Given the description of an element on the screen output the (x, y) to click on. 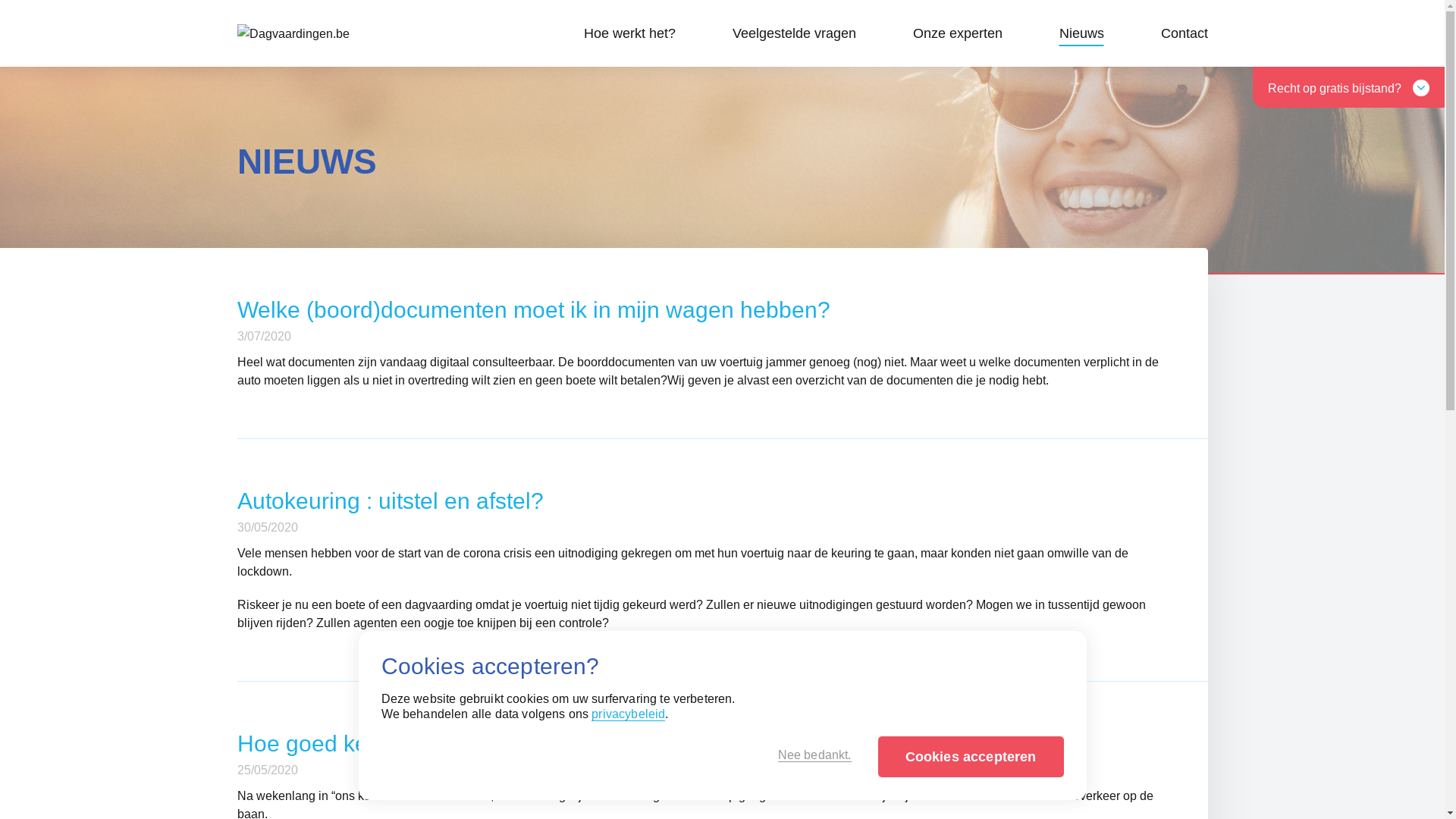
Autokeuring : uitstel en afstel? Element type: text (389, 500)
Cookies accepteren Element type: text (970, 756)
Onze experten Element type: text (957, 33)
Dagvaardingen.be Element type: hover (329, 33)
Welke (boord)documenten moet ik in mijn wagen hebben? Element type: text (532, 309)
privacybeleid Element type: text (628, 713)
Hoe goed kennen we de verkeersregels nog? Element type: text (468, 743)
Contact Element type: text (1183, 33)
Veelgestelde vragen Element type: text (794, 33)
Recht op gratis bijstand? Element type: text (1348, 86)
Hoe werkt het? Element type: text (629, 33)
Nee bedankt. Element type: text (814, 754)
Nieuws Element type: text (1080, 33)
